Given the description of an element on the screen output the (x, y) to click on. 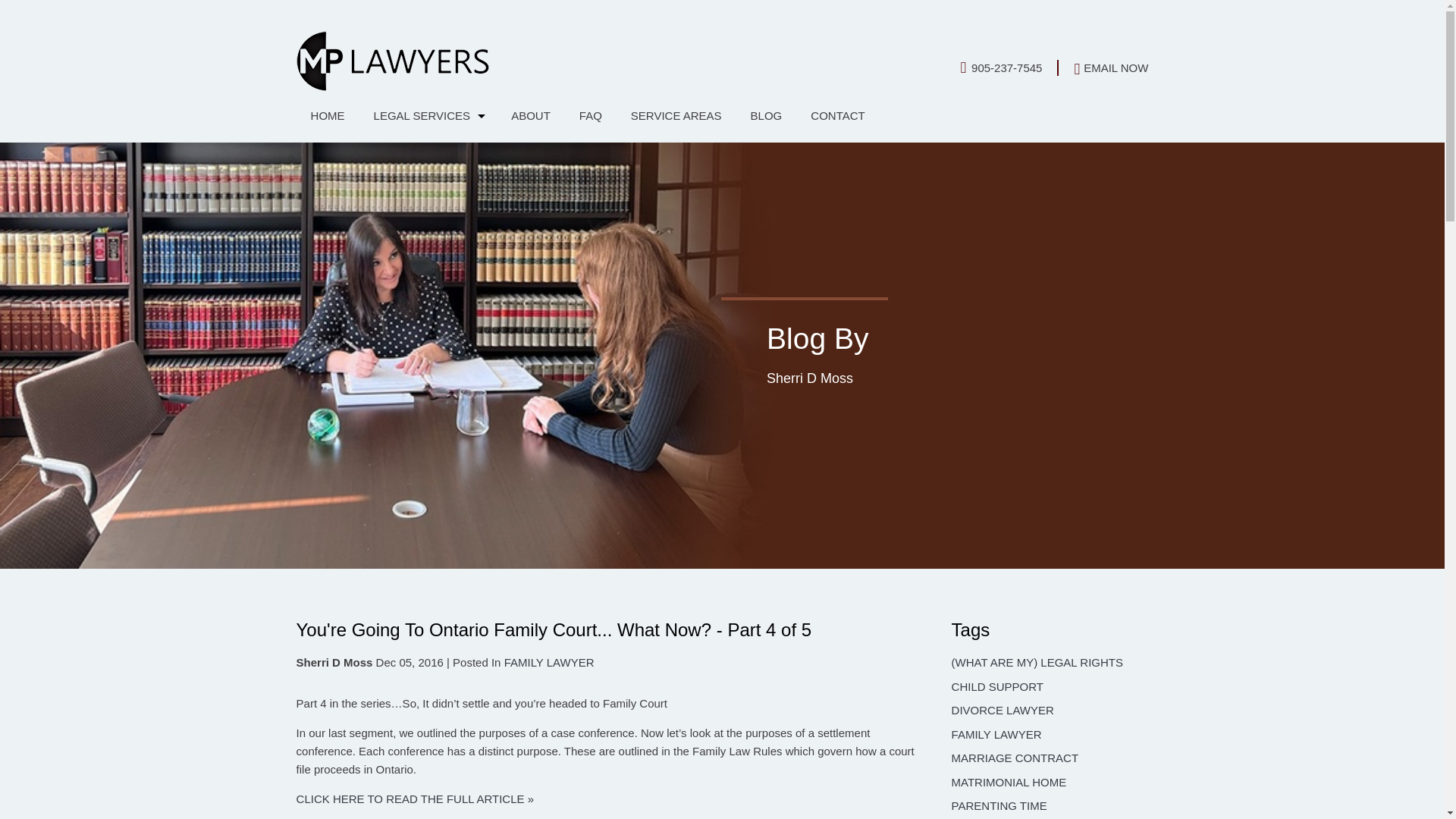
ABOUT (530, 115)
SERVICE AREAS (675, 115)
FAQ (589, 115)
CONTACT (837, 115)
BLOG (766, 115)
EMAIL NOW (1111, 67)
905-237-7545 (1008, 67)
HOME (328, 115)
FAMILY LAWYER (548, 662)
LEGAL SERVICES (428, 115)
